Given the description of an element on the screen output the (x, y) to click on. 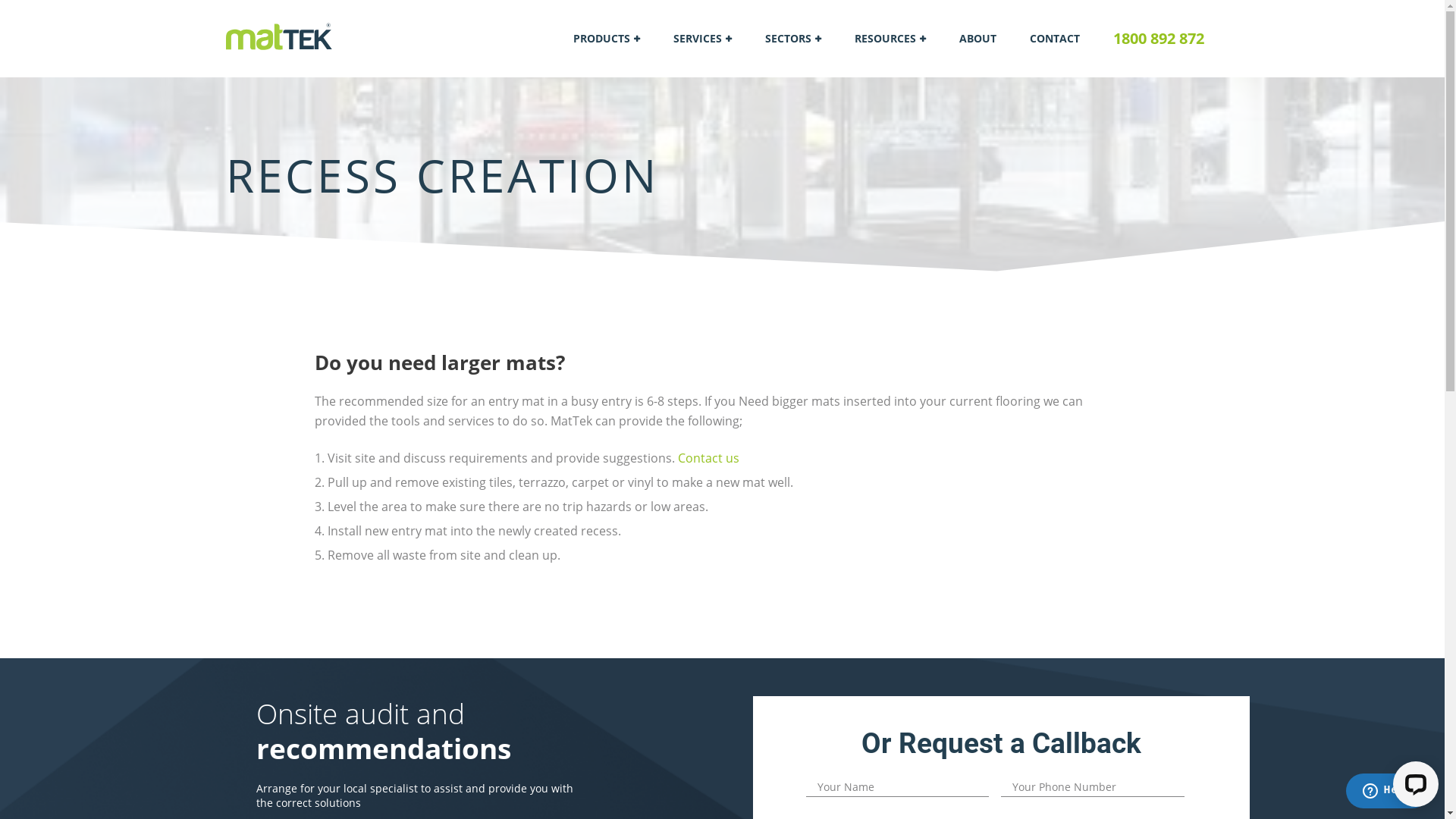
SERVICES Element type: text (702, 38)
1800 892 872 Element type: text (1158, 39)
Opens a widget where you can chat to one of our agents Element type: hover (1387, 792)
ABOUT Element type: text (976, 38)
PRODUCTS Element type: text (606, 38)
Contact us Element type: text (708, 457)
SECTORS Element type: text (792, 38)
CONTACT Element type: text (1054, 38)
RESOURCES Element type: text (889, 38)
